Given the description of an element on the screen output the (x, y) to click on. 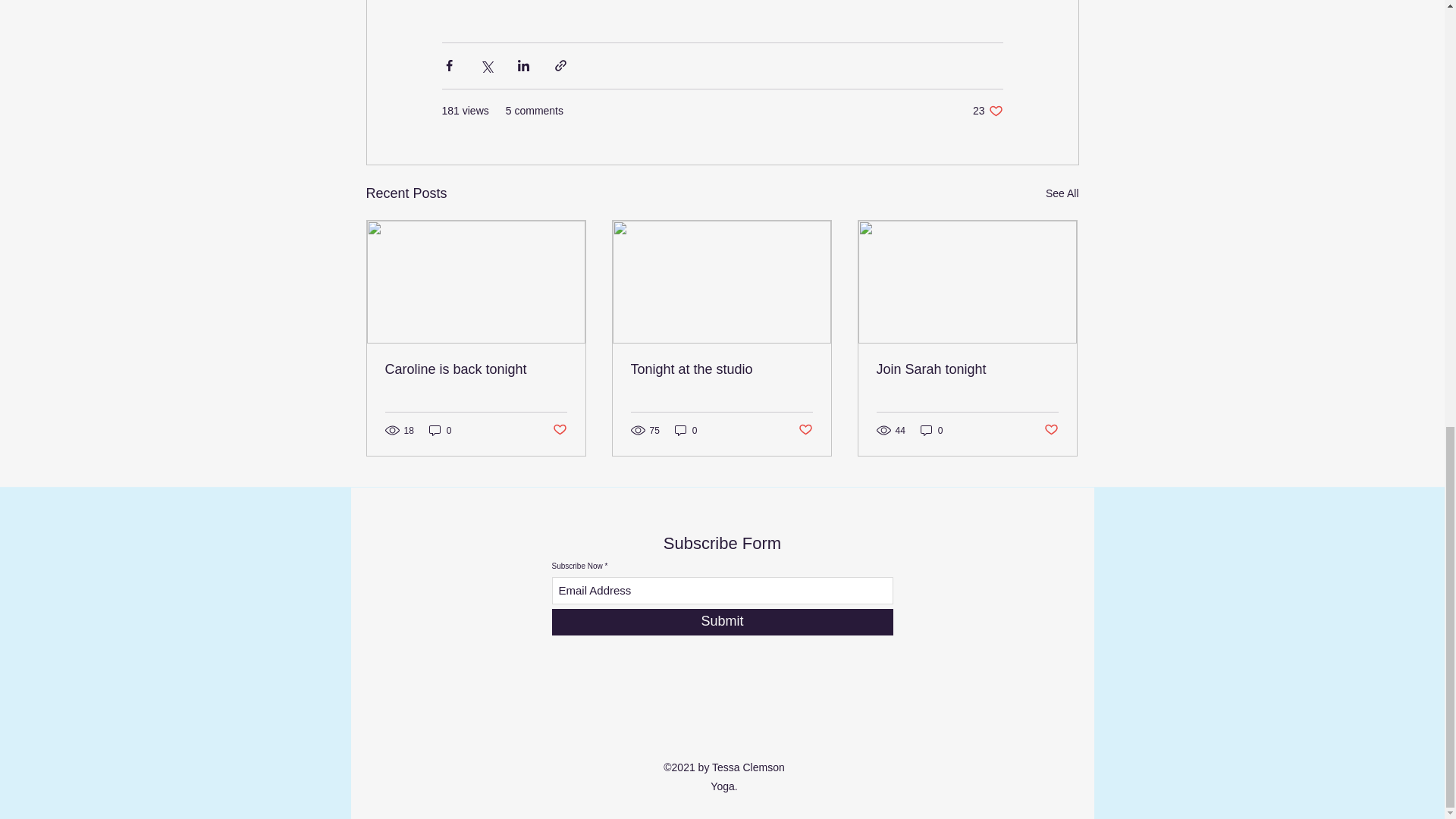
0 (931, 430)
Post not marked as liked (558, 430)
0 (685, 430)
Post not marked as liked (804, 430)
Tonight at the studio (721, 369)
See All (1061, 193)
0 (440, 430)
Caroline is back tonight (476, 369)
Join Sarah tonight (967, 369)
Post not marked as liked (1050, 430)
Submit (722, 622)
